Given the description of an element on the screen output the (x, y) to click on. 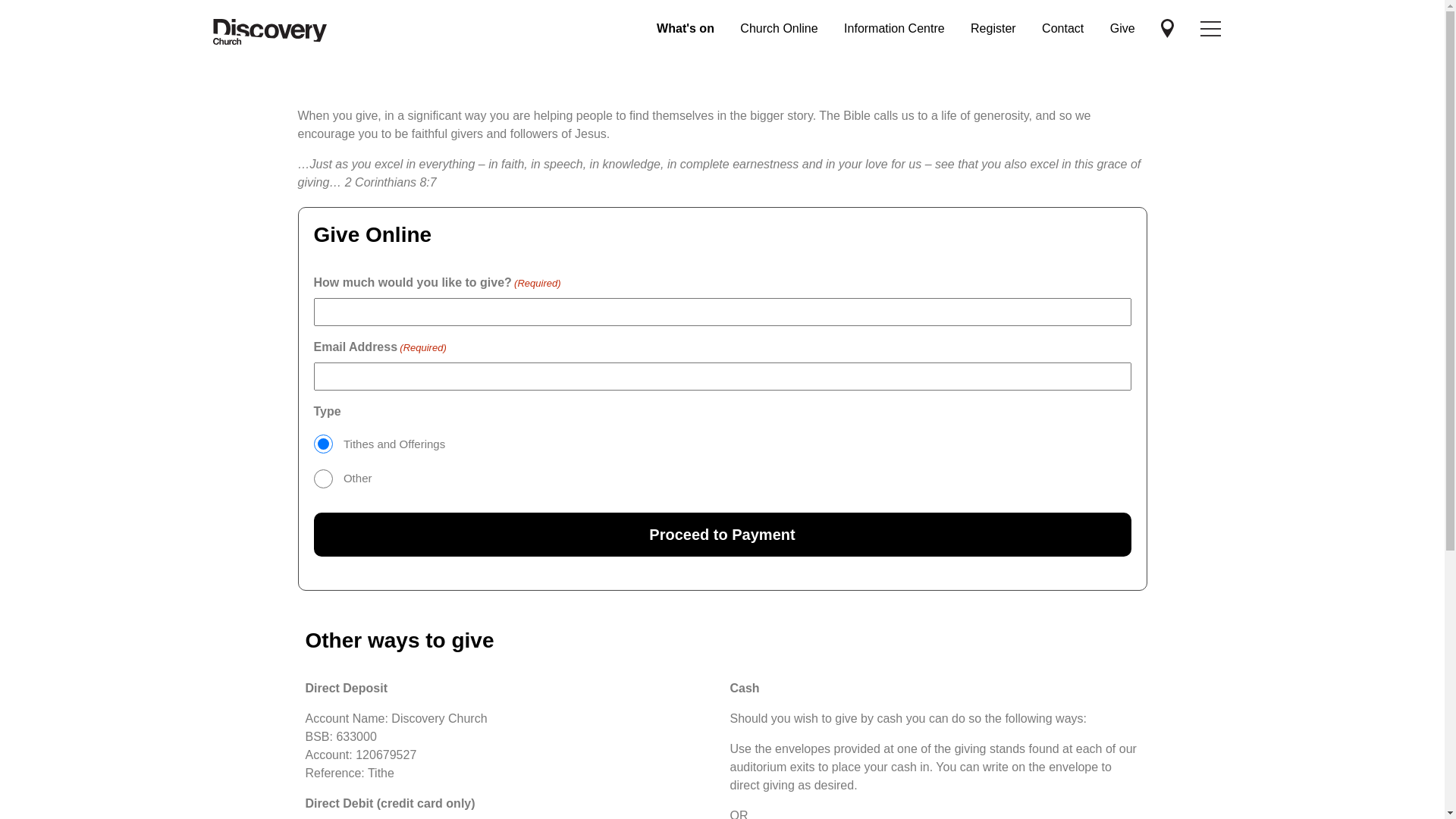
Give Element type: text (1122, 27)
Discovery Church Element type: hover (269, 31)
Discovery Church Element type: hover (1209, 28)
Discovery Church Element type: hover (1167, 27)
Proceed to Payment Element type: text (722, 534)
Register Element type: text (993, 27)
Church Online Element type: text (778, 27)
Information Centre Element type: text (894, 27)
What's on Element type: text (685, 27)
Contact Element type: text (1062, 27)
